Given the description of an element on the screen output the (x, y) to click on. 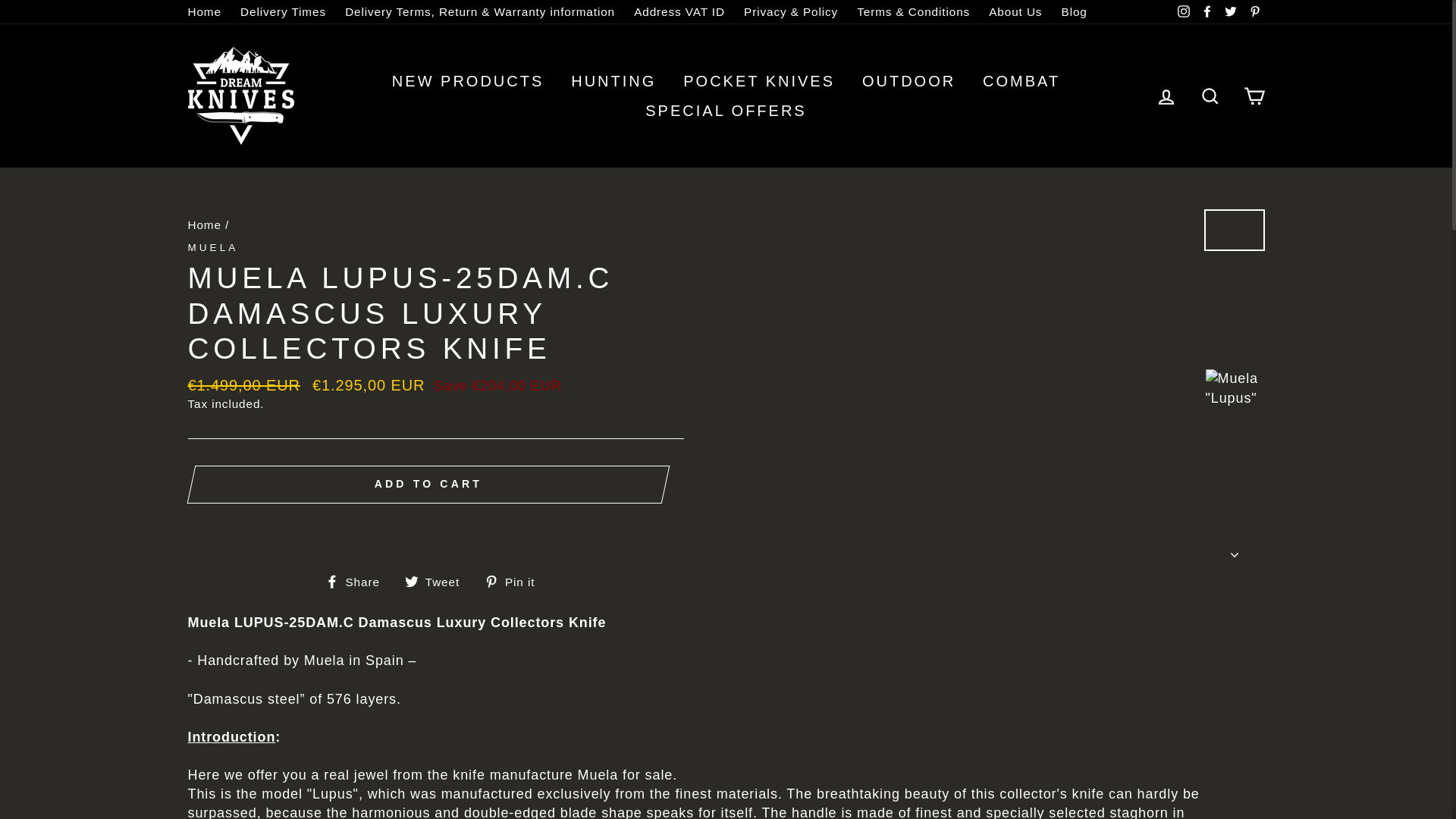
Home (204, 11)
Tweet on Twitter (437, 580)
Delivery Times (282, 11)
Share on Facebook (357, 580)
Address VAT ID (679, 11)
About Us (1015, 11)
Back to the frontpage (204, 224)
Pin on Pinterest (515, 580)
